Given the description of an element on the screen output the (x, y) to click on. 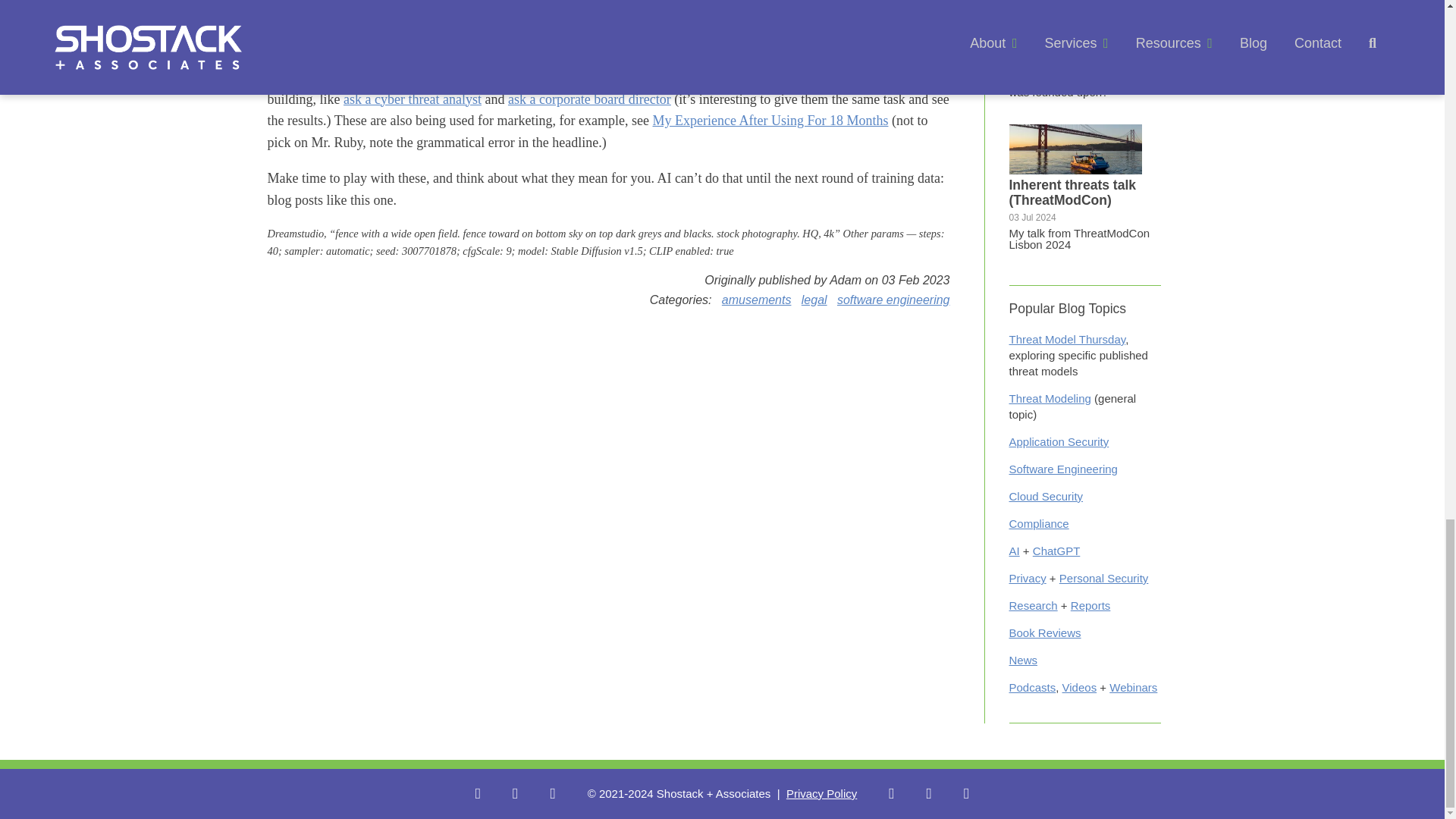
legal (814, 299)
software engineering (893, 299)
amusements (757, 299)
ask a corporate board director (589, 99)
ask a cyber threat analyst (412, 99)
My Experience After Using For 18 Months (770, 120)
